Given the description of an element on the screen output the (x, y) to click on. 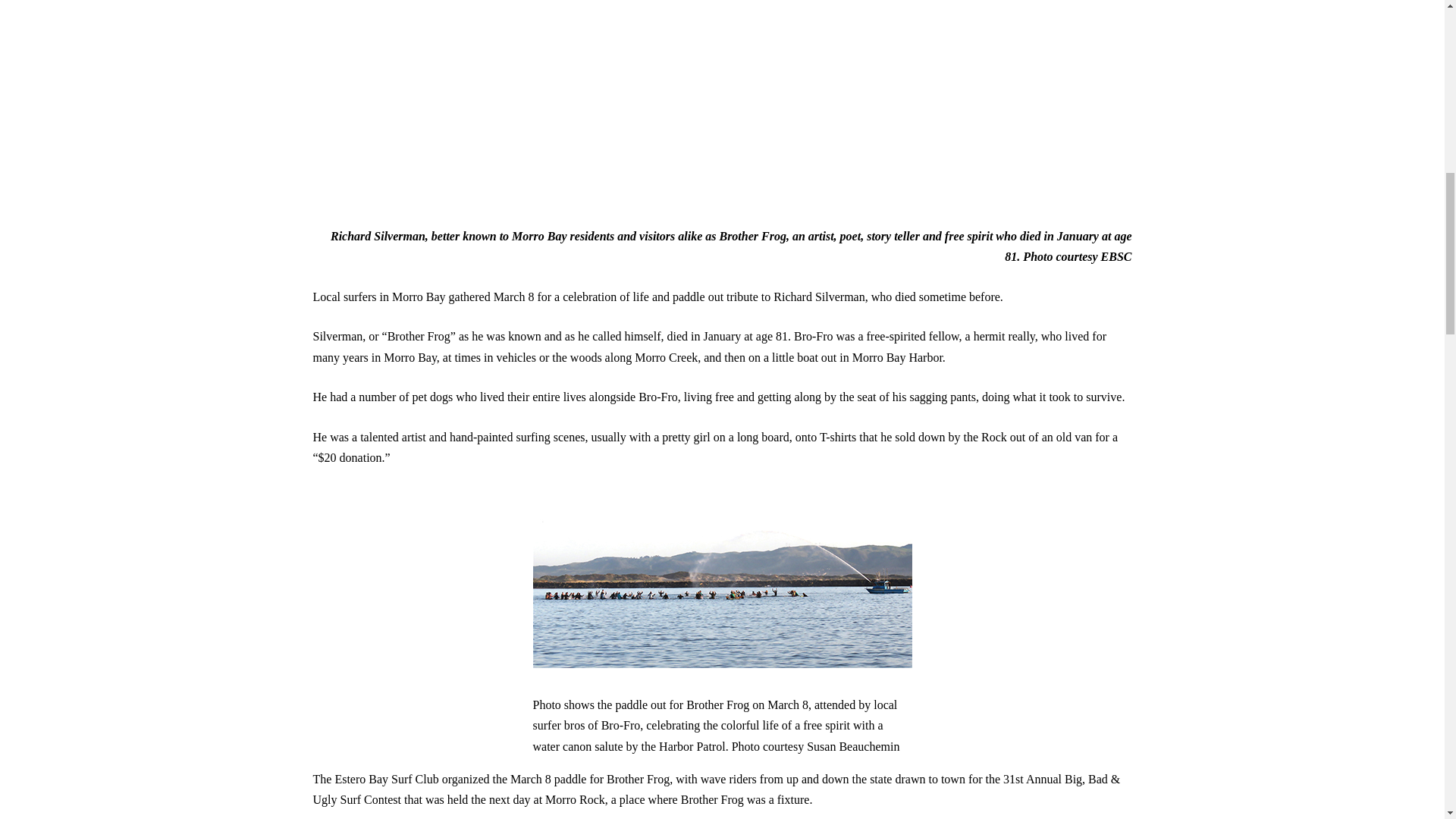
EBN Brother Frog copy (502, 83)
